Given the description of an element on the screen output the (x, y) to click on. 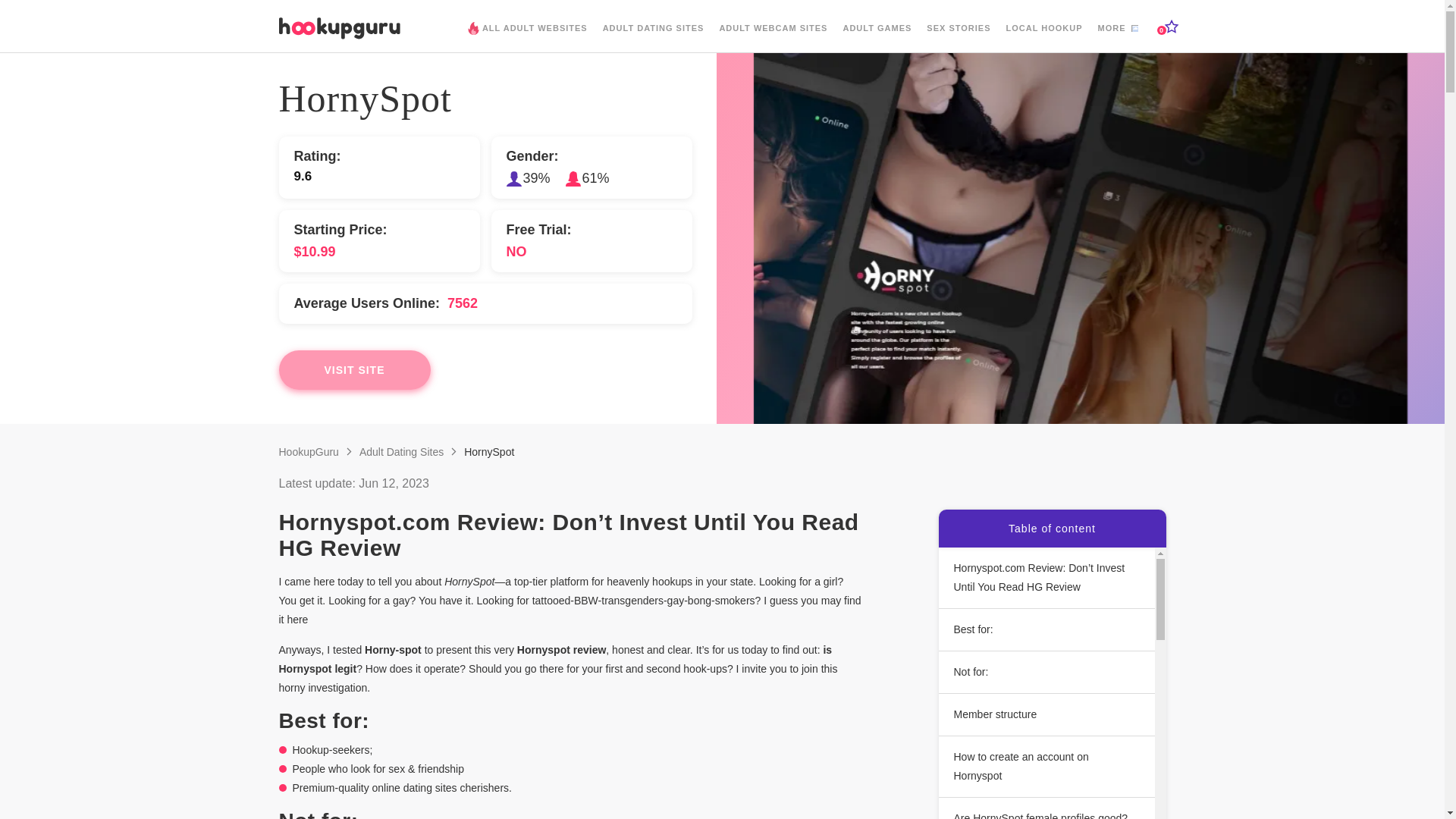
ALL ADULT WEBSITES (531, 40)
HookupGuru (309, 451)
ADULT WEBCAM SITES (772, 38)
SEX STORIES (957, 38)
ADULT DATING SITES (653, 38)
Adult Dating Sites (401, 451)
VISIT SITE (354, 369)
LOCAL HOOKUP (1043, 38)
ADULT GAMES (876, 38)
